Given the description of an element on the screen output the (x, y) to click on. 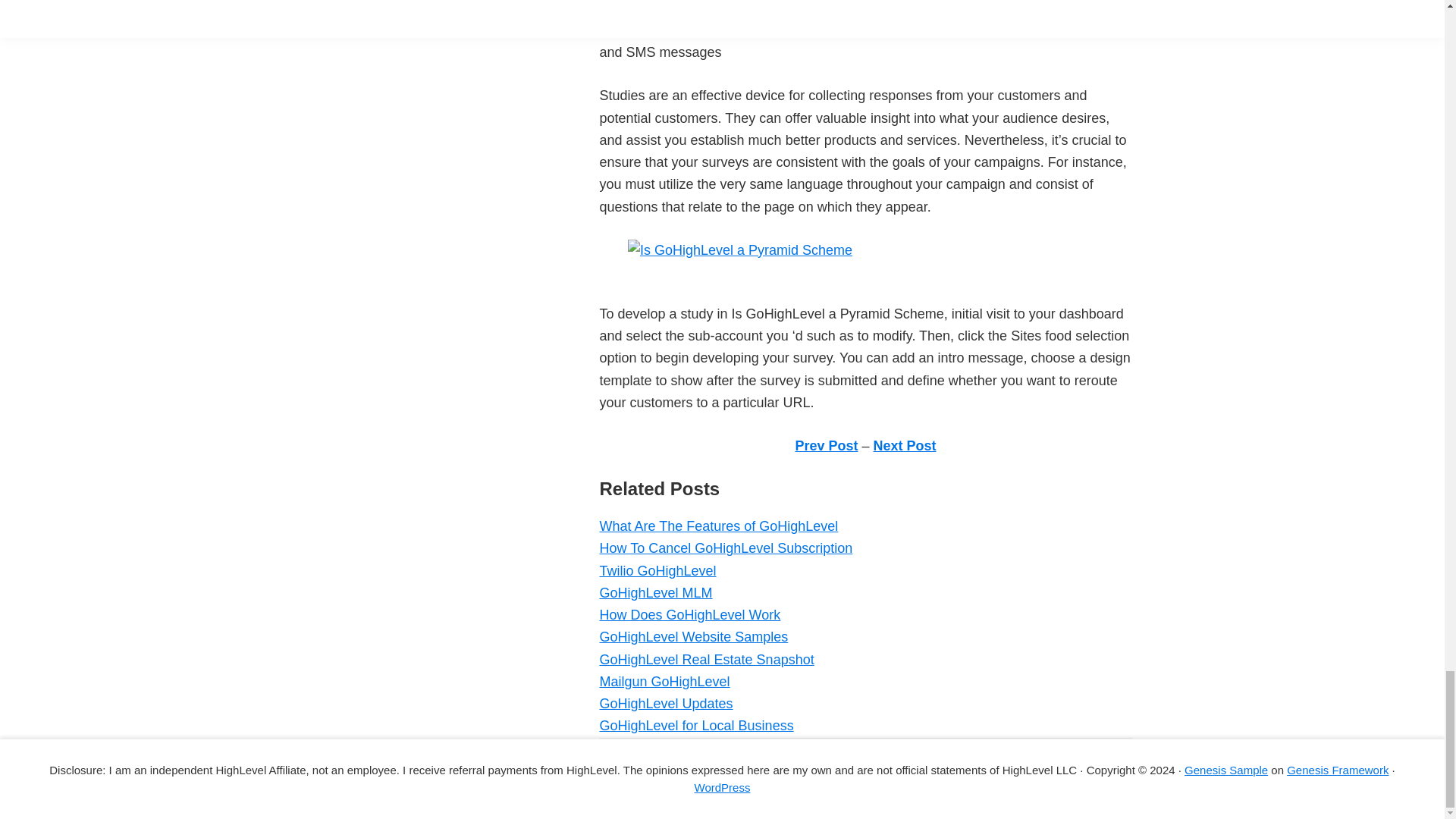
GoHighLevel Website Samples (692, 636)
GoHighLevel Updates (665, 703)
What Are The Features of GoHighLevel (718, 525)
How To Cancel GoHighLevel Subscription (724, 548)
Twilio GoHighLevel (657, 570)
How Does GoHighLevel Work (689, 614)
GoHighLevel Real Estate Snapshot (705, 659)
Mailgun GoHighLevel (663, 681)
GoHighLevel MLM (654, 592)
How Does GoHighLevel Work (689, 614)
